Given the description of an element on the screen output the (x, y) to click on. 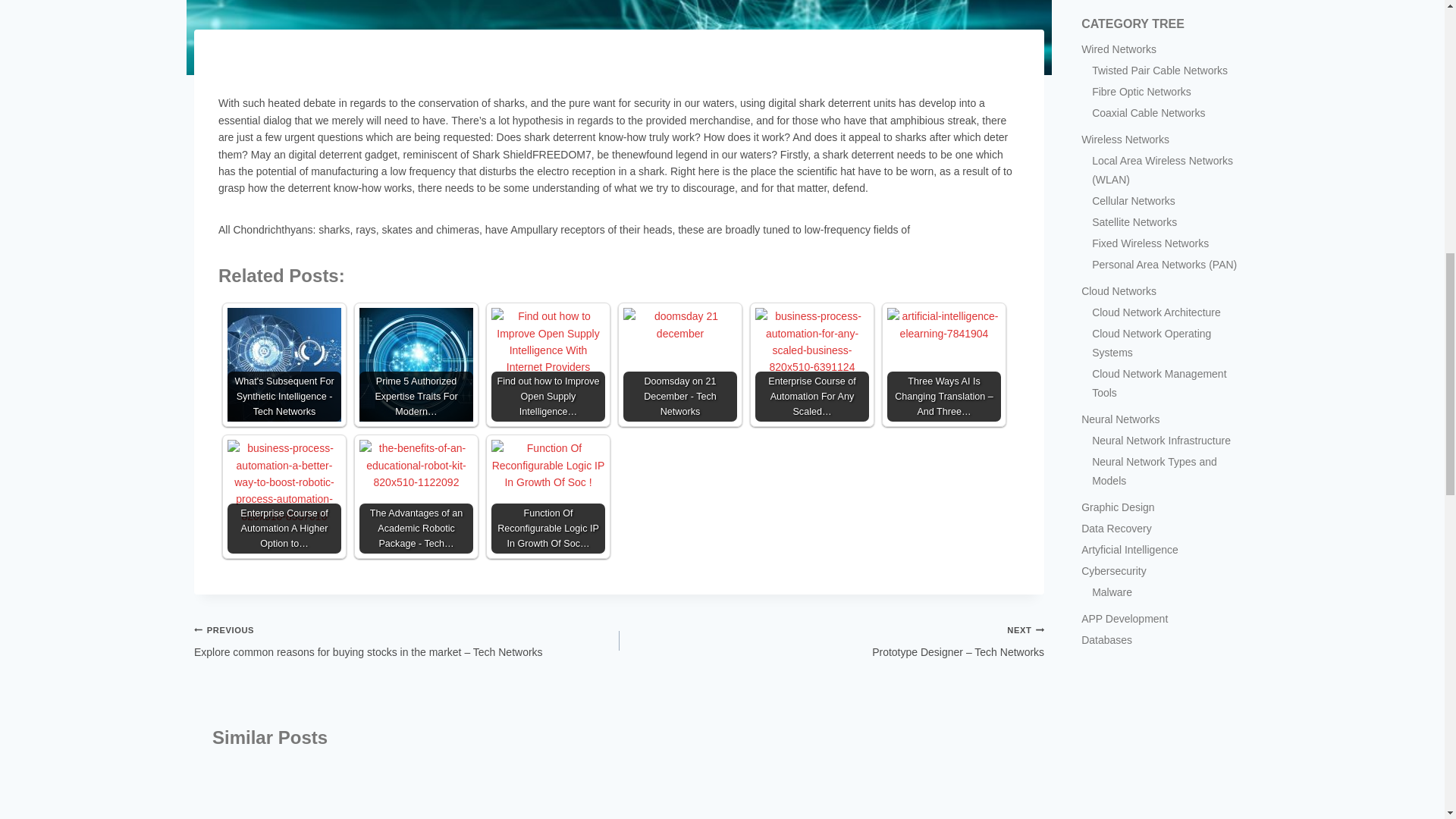
Doomsday on 21 December - Tech Networks (679, 364)
What's Subsequent For Synthetic Intelligence - Tech Networks (283, 364)
Doomsday on 21 December - Tech Networks (679, 364)
What's Subsequent For Synthetic Intelligence - Tech Networks (283, 364)
